Given the description of an element on the screen output the (x, y) to click on. 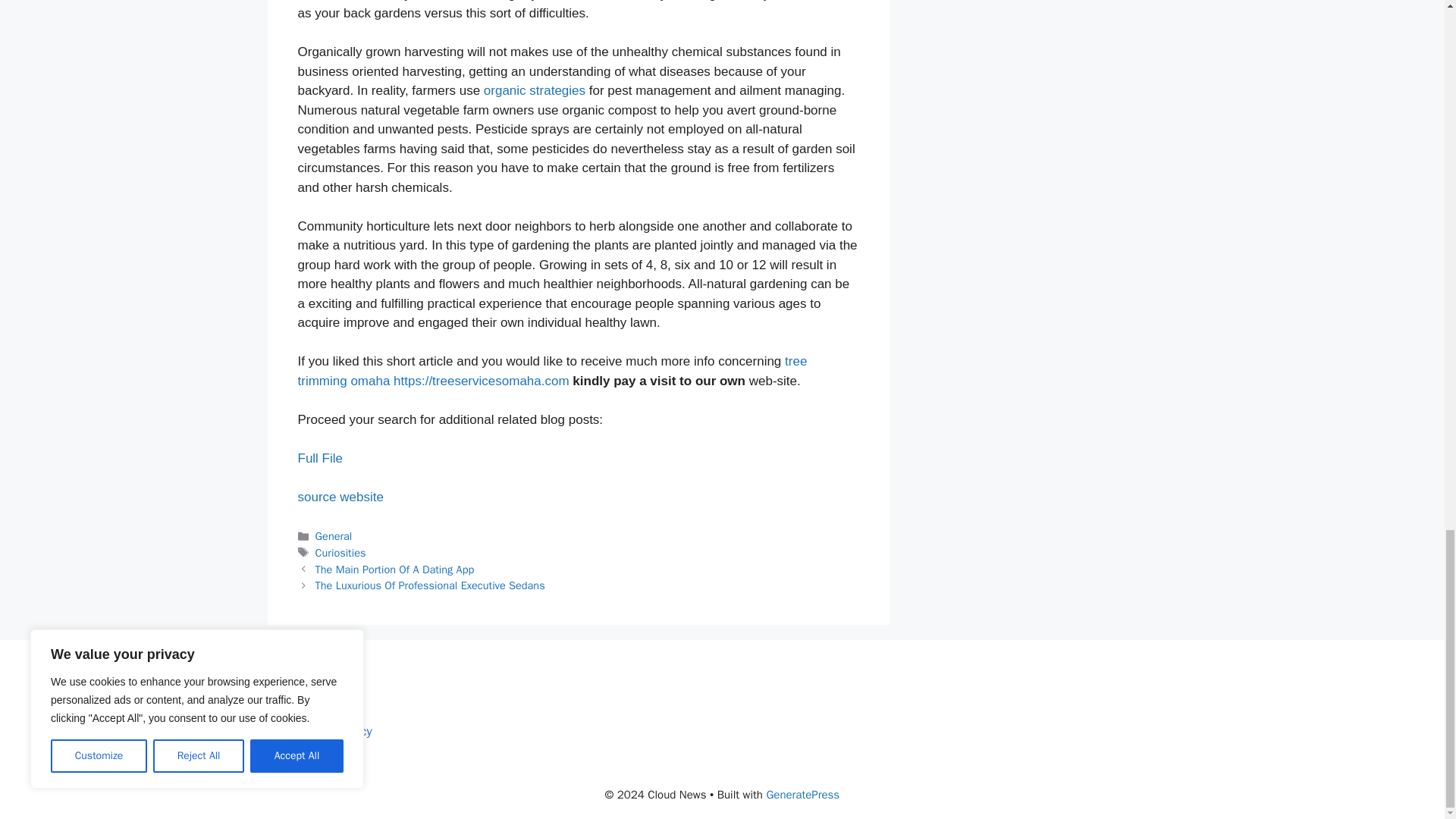
organic strategies (534, 90)
The Luxurious Of Professional Executive Sedans (429, 585)
source website (339, 496)
Full File (319, 458)
Curiosities (340, 552)
General (333, 535)
The Main Portion Of A Dating App (394, 569)
